Given the description of an element on the screen output the (x, y) to click on. 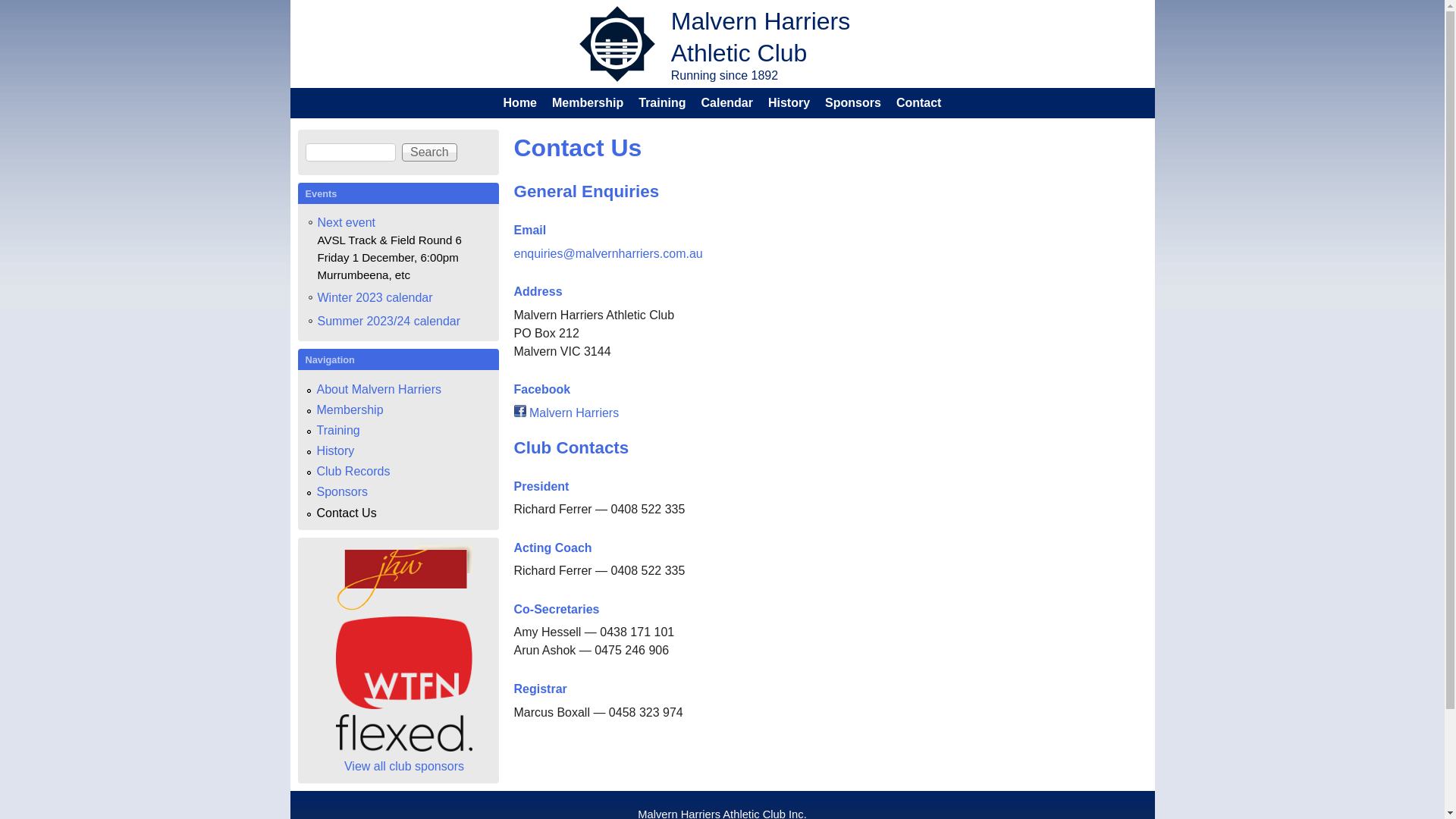
Enter the terms you wish to search for. Element type: hover (349, 152)
Sponsors Element type: text (852, 102)
Contact Element type: text (918, 102)
Membership Element type: text (587, 102)
History Element type: text (788, 102)
Calendar Element type: text (726, 102)
Skip to main content Element type: text (704, 0)
Club Records Element type: text (353, 470)
JHW Element type: hover (403, 578)
Training Element type: text (661, 102)
WTFN Entertainment Element type: hover (403, 704)
History Element type: text (335, 450)
flexed Physiotherapy Element type: hover (403, 732)
Summer 2023/24 calendar Element type: text (388, 321)
JHW Element type: hover (403, 606)
flexed Physiotherapy Element type: hover (403, 746)
Contact Us Element type: text (346, 512)
WTFN Entertainment Element type: hover (403, 662)
Sponsors Element type: text (342, 491)
Training Element type: text (338, 429)
View all club sponsors Element type: text (404, 765)
Search Element type: text (429, 152)
enquiries@malvernharriers.com.au Element type: text (608, 253)
Membership Element type: text (349, 409)
About Malvern Harriers Element type: text (379, 388)
Home Element type: text (519, 102)
Malvern Harriers Element type: text (566, 412)
Winter 2023 calendar Element type: text (374, 297)
Malvern Harriers Athletic Club Element type: text (760, 36)
